Given the description of an element on the screen output the (x, y) to click on. 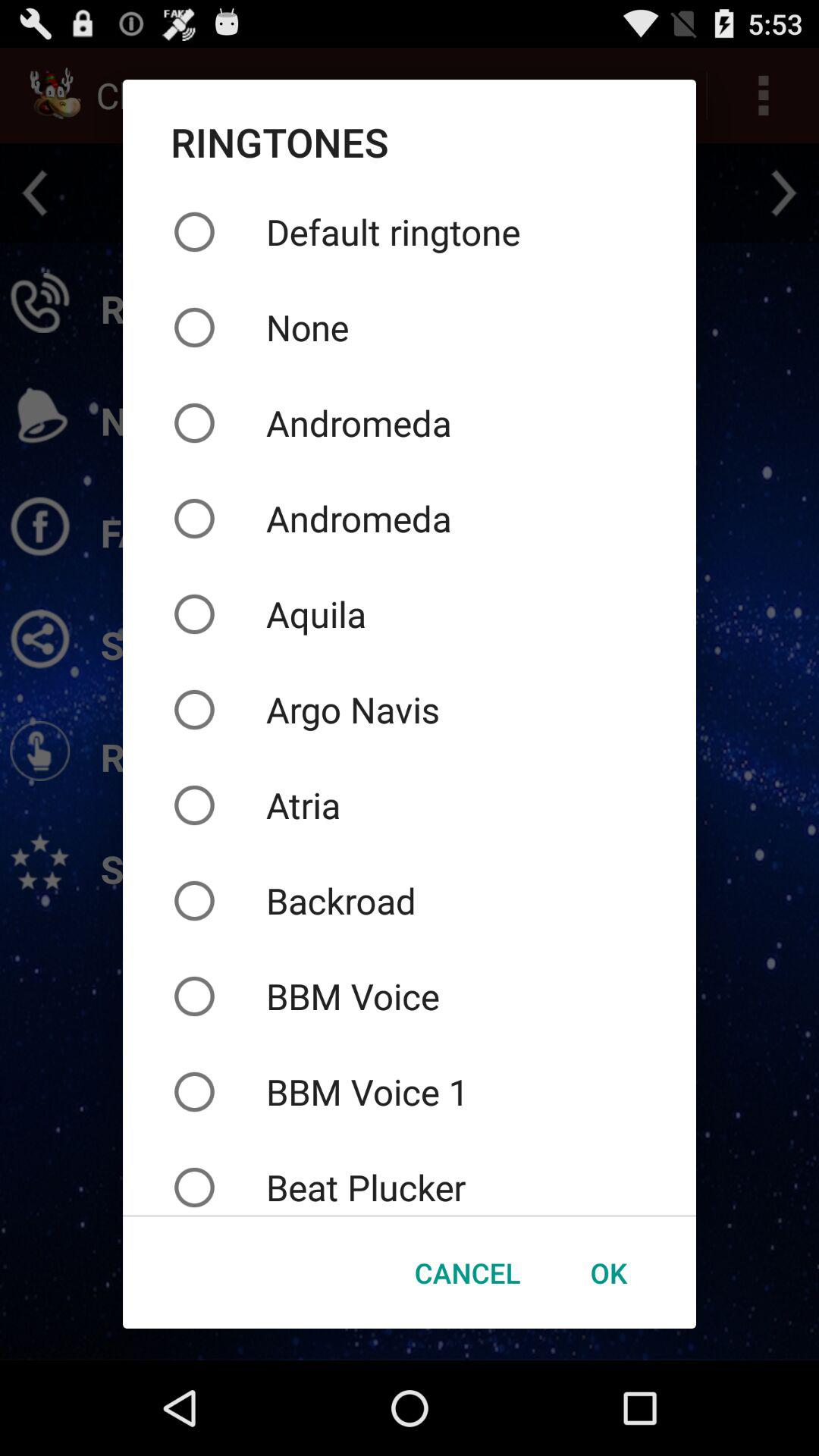
select the icon below beat plucker icon (608, 1272)
